Given the description of an element on the screen output the (x, y) to click on. 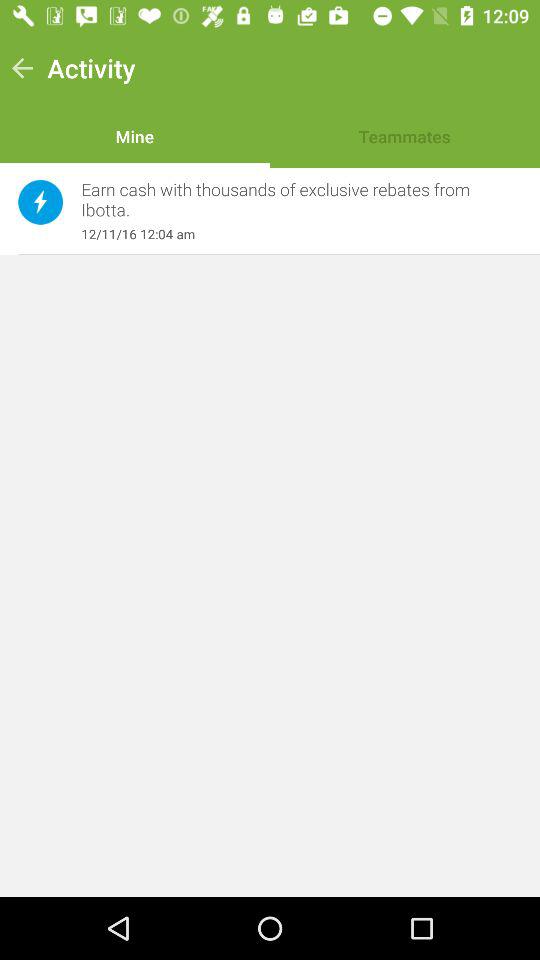
select the icon below mine (291, 200)
